Given the description of an element on the screen output the (x, y) to click on. 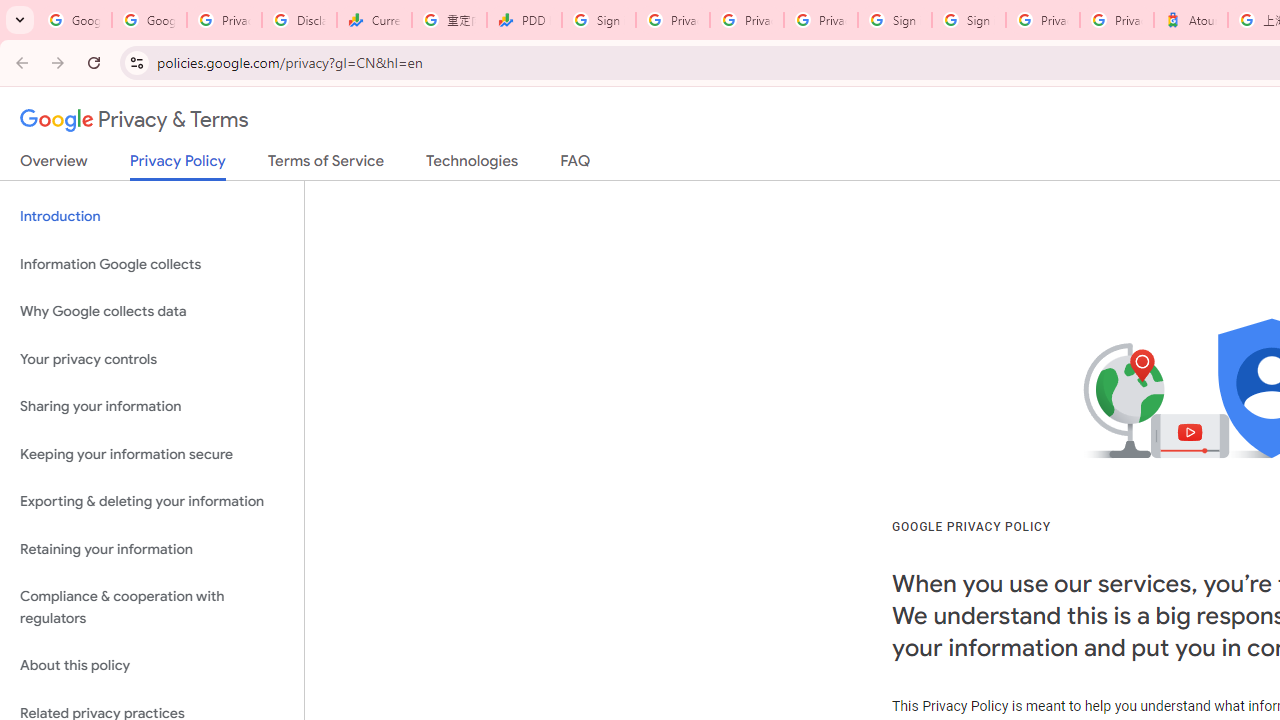
Information Google collects (152, 263)
Sign in - Google Accounts (968, 20)
Google Workspace Admin Community (74, 20)
Exporting & deleting your information (152, 502)
Sign in - Google Accounts (598, 20)
Atour Hotel - Google hotels (1190, 20)
Privacy Checkup (820, 20)
Keeping your information secure (152, 453)
About this policy (152, 666)
